Given the description of an element on the screen output the (x, y) to click on. 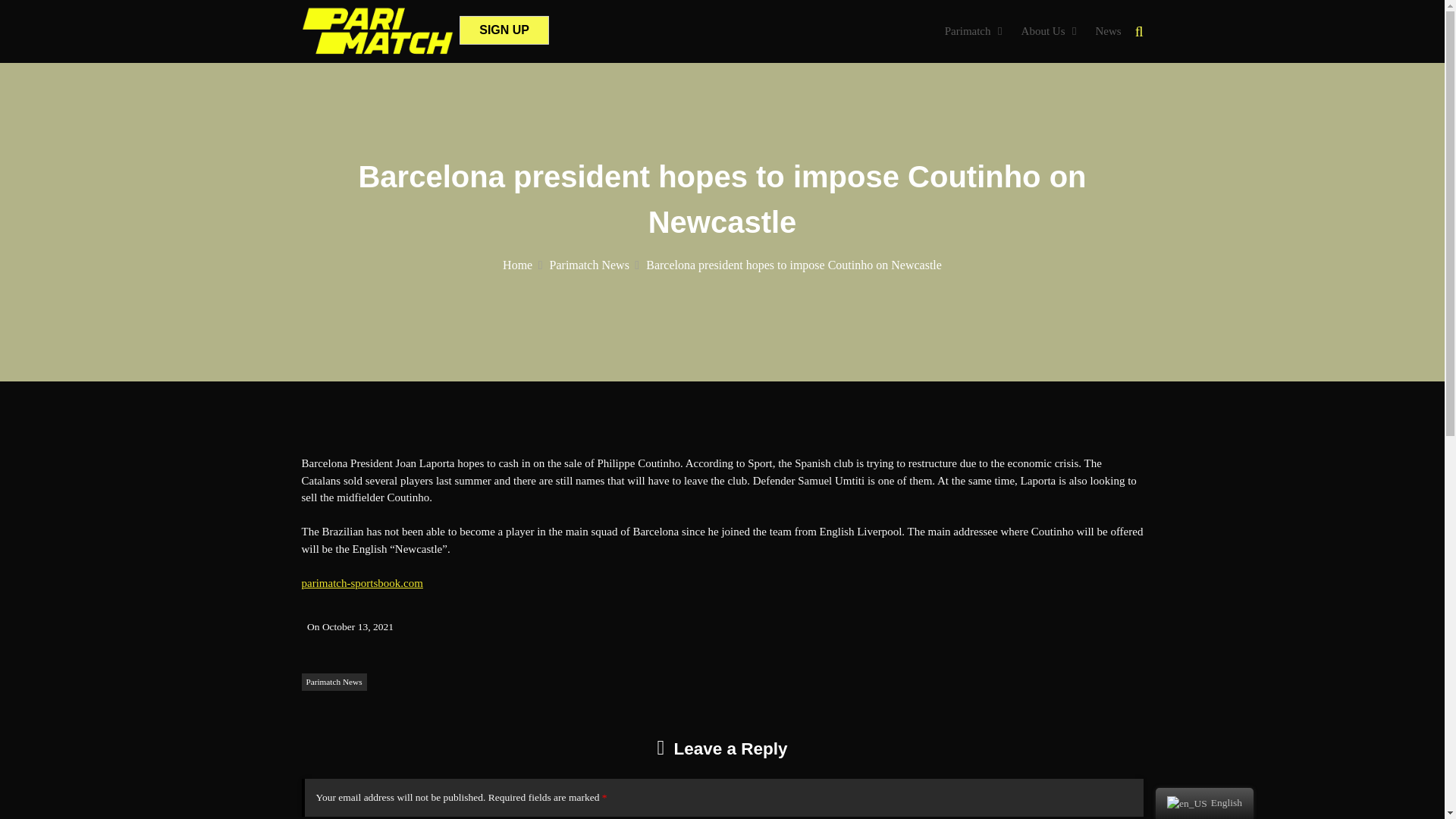
October 13, 2021 (357, 626)
News (1107, 30)
English (1204, 803)
About Us (1043, 30)
Parimatch News (595, 264)
Home (521, 264)
Parimatch (967, 30)
Parimatch Bookmaker Company Review (518, 73)
parimatch-sportsbook.com (362, 582)
Parimatch News (333, 682)
